Given the description of an element on the screen output the (x, y) to click on. 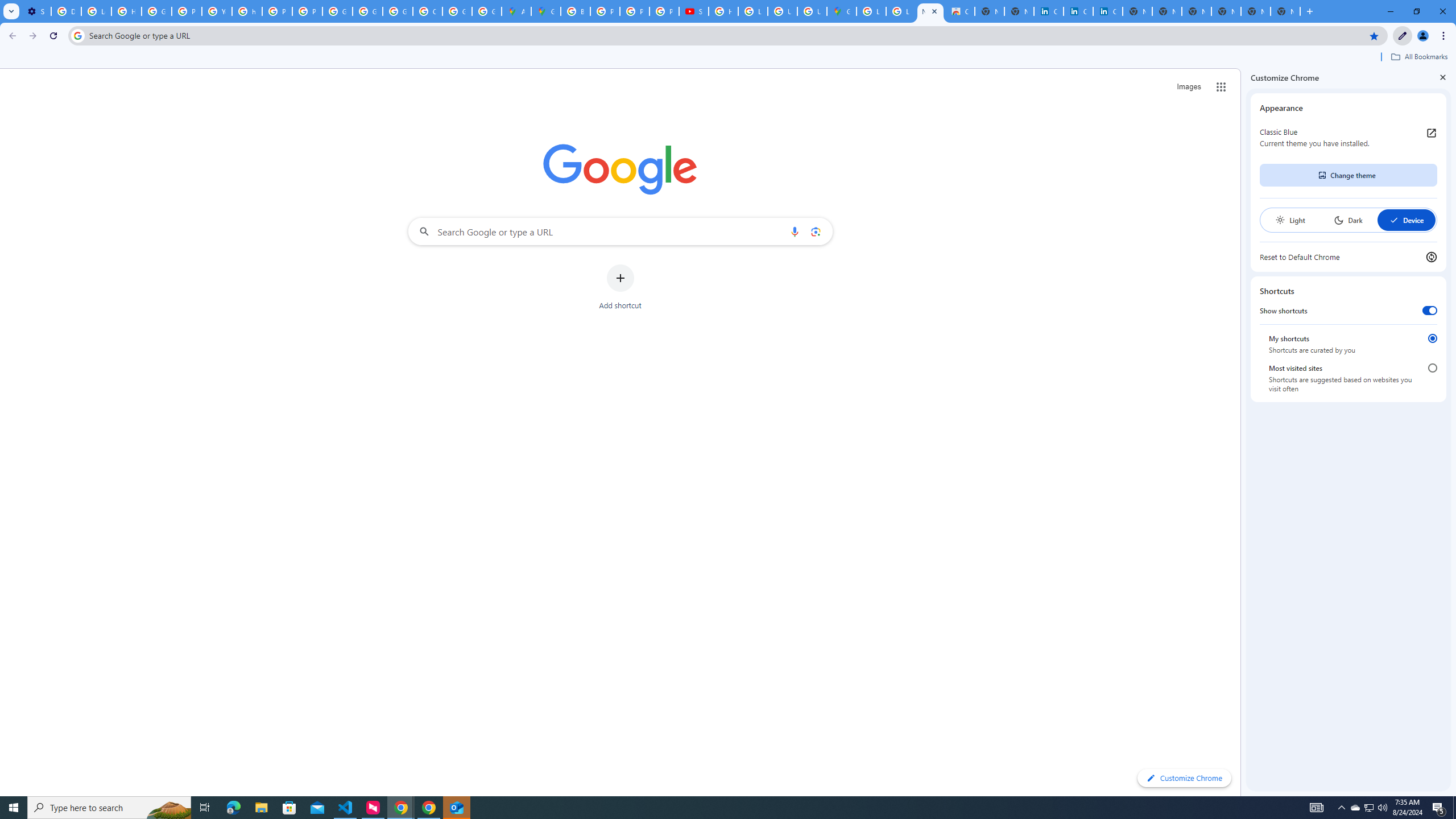
Search Google or type a URL (619, 230)
Copyright Policy (1107, 11)
New Tab (1284, 11)
Change theme (1348, 174)
Cookie Policy | LinkedIn (1048, 11)
Privacy Help Center - Policies Help (277, 11)
Create your Google Account (426, 11)
Learn how to find your photos - Google Photos Help (95, 11)
